Given the description of an element on the screen output the (x, y) to click on. 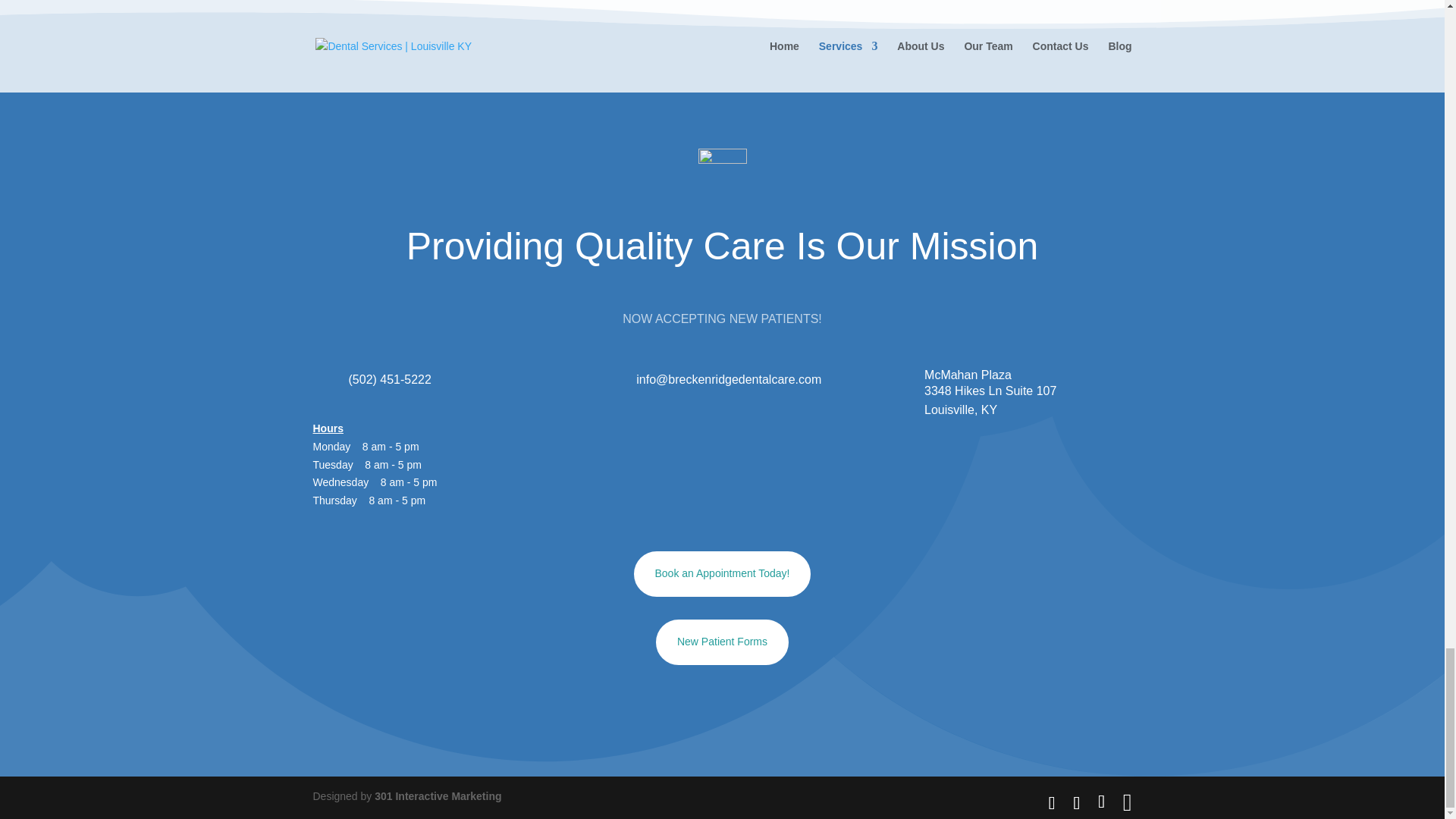
New Patient Forms (722, 642)
Book an Appointment Today! (721, 574)
301 Interactive Marketing (437, 796)
